Given the description of an element on the screen output the (x, y) to click on. 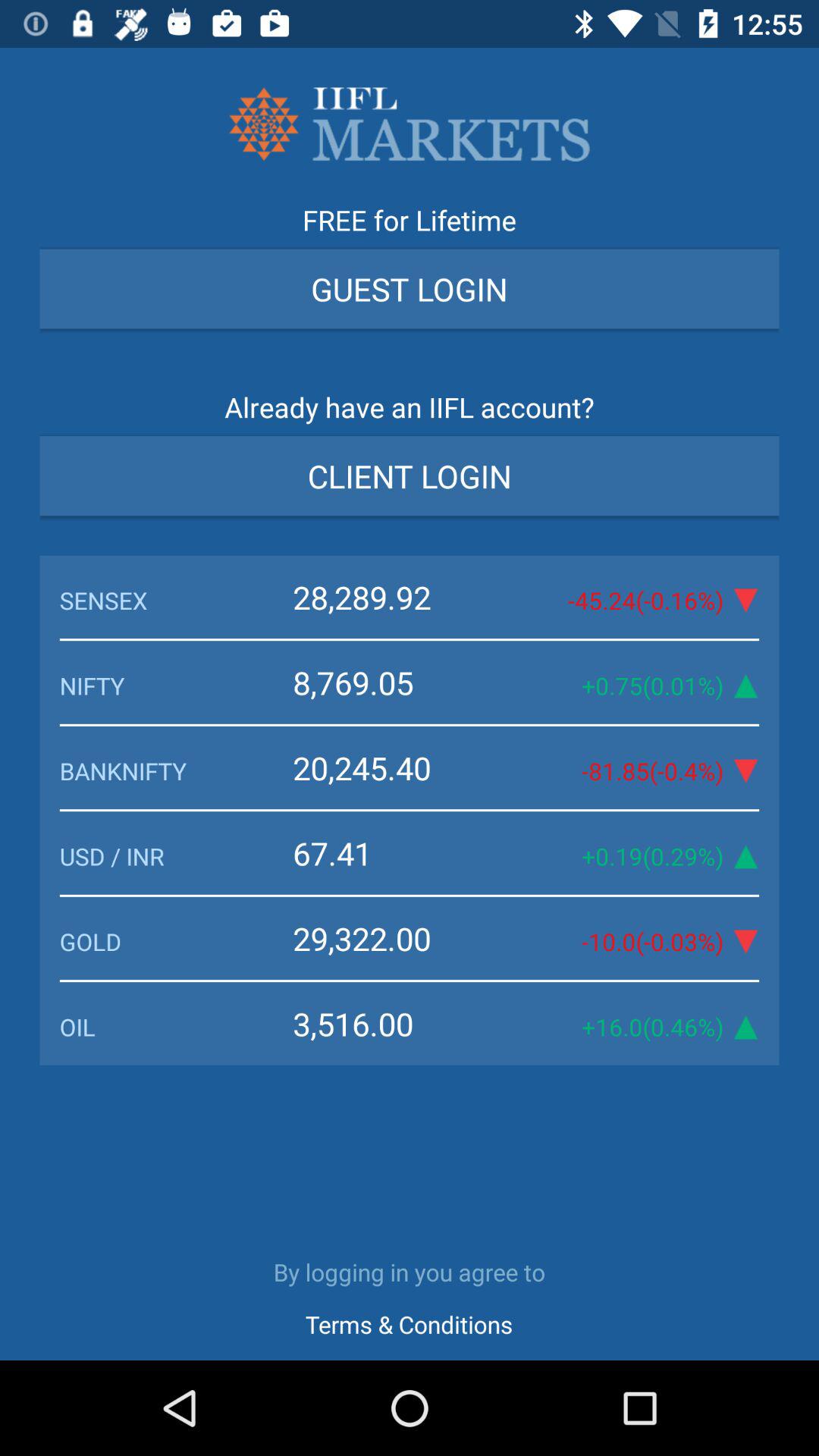
flip to the 81 85 0 icon (631, 770)
